Given the description of an element on the screen output the (x, y) to click on. 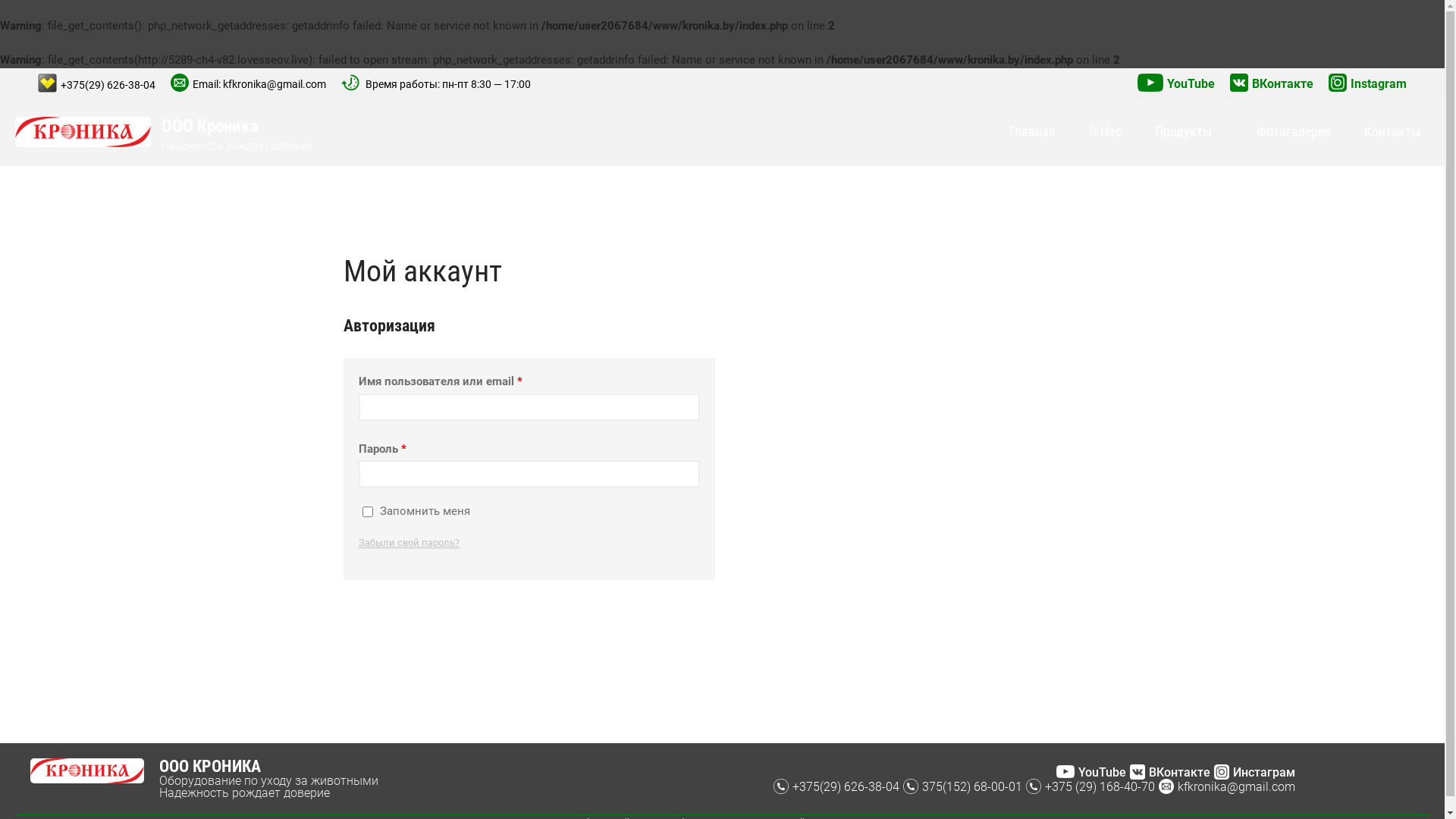
+375(29) 626-38-04 Element type: text (96, 83)
Instagram Element type: text (1367, 83)
YouTube Element type: text (1175, 83)
Email: kfkronika@gmail.com Element type: text (248, 82)
